Given the description of an element on the screen output the (x, y) to click on. 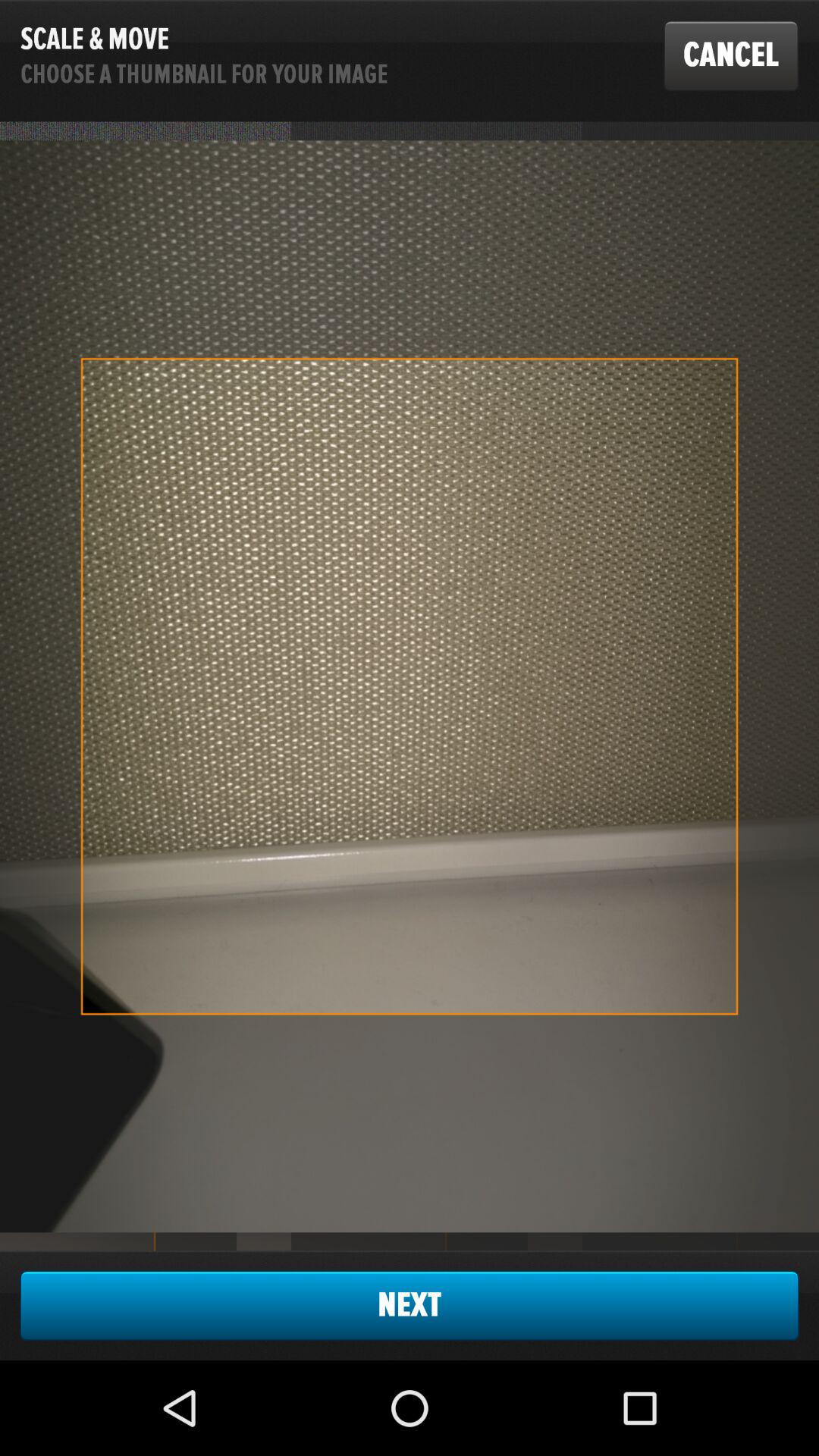
launch cancel item (730, 55)
